Given the description of an element on the screen output the (x, y) to click on. 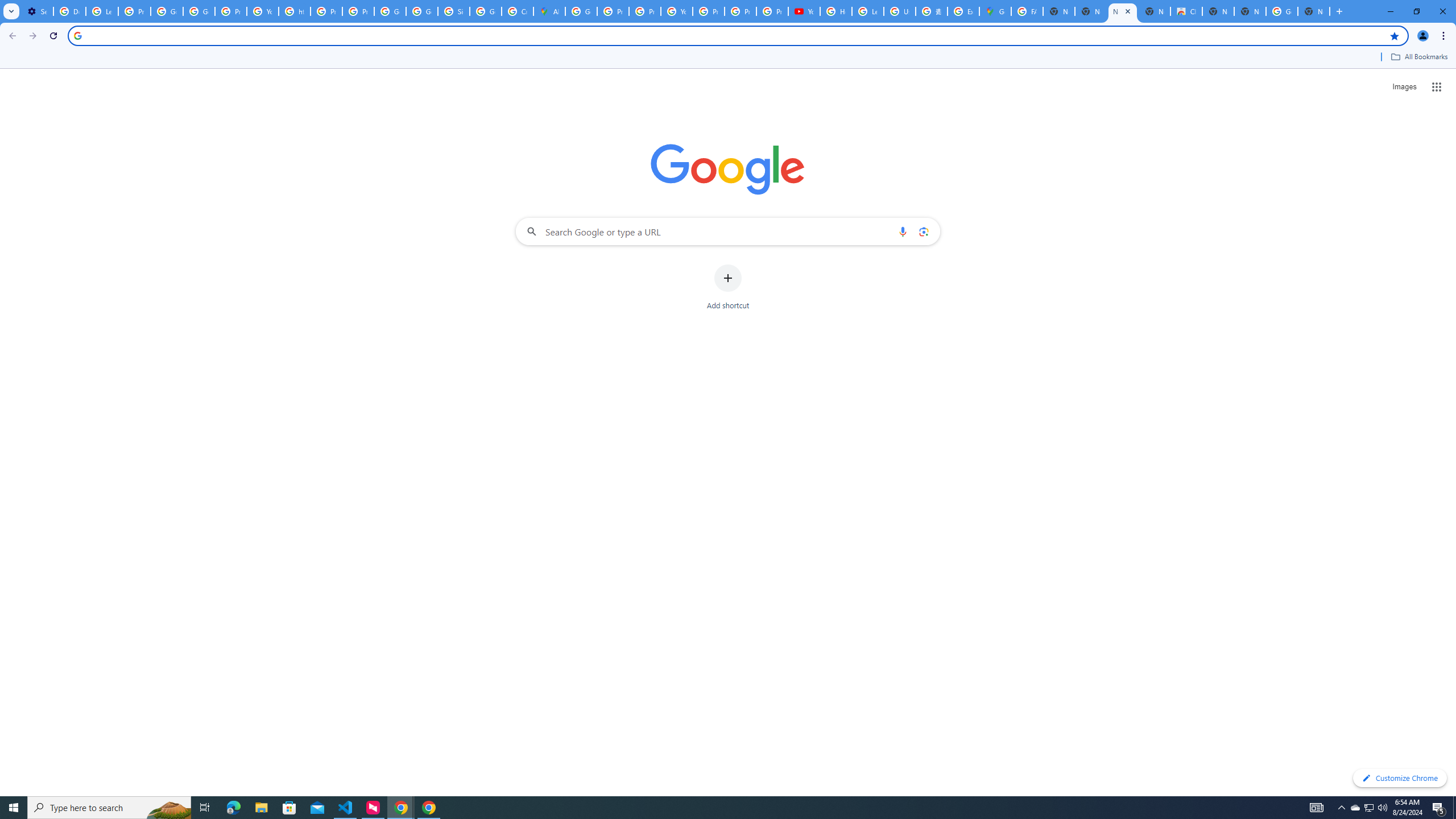
Delete photos & videos - Computer - Google Photos Help (69, 11)
Privacy Help Center - Policies Help (613, 11)
New Tab (1249, 11)
Google Account Help (166, 11)
Privacy Help Center - Policies Help (326, 11)
Bookmarks (728, 58)
Privacy Checkup (772, 11)
Google Maps (995, 11)
